Given the description of an element on the screen output the (x, y) to click on. 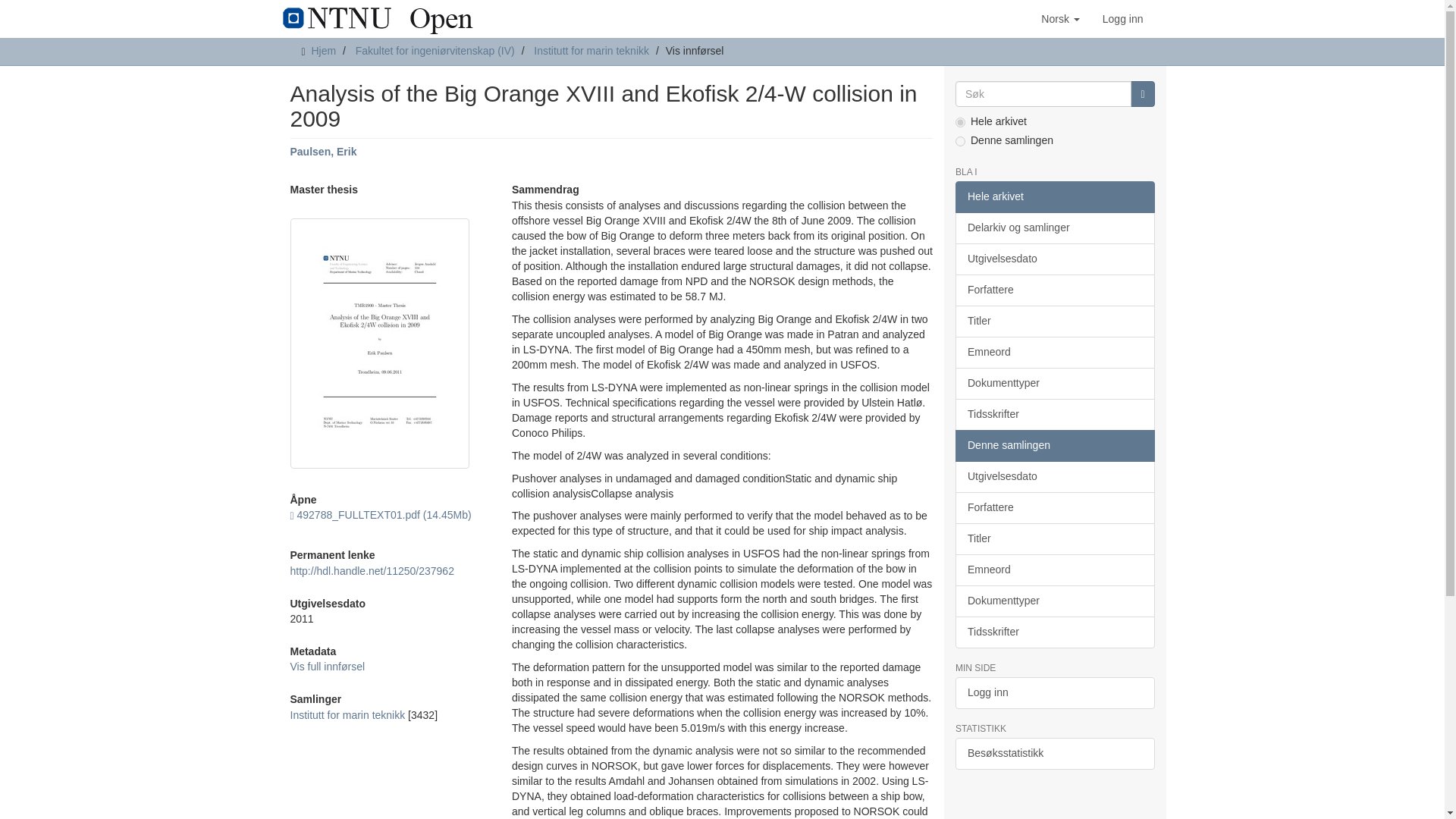
Dokumenttyper (1054, 383)
Emneord (1054, 352)
Institutt for marin teknikk (346, 715)
Hele arkivet (1054, 196)
Hjem (323, 50)
Titler (1054, 321)
Paulsen, Erik (322, 151)
Forfattere (1054, 290)
Tidsskrifter (1054, 414)
Logg inn (1122, 18)
Norsk  (1059, 18)
Utgivelsesdato (1054, 259)
Delarkiv og samlinger (1054, 228)
Institutt for marin teknikk (591, 50)
